Given the description of an element on the screen output the (x, y) to click on. 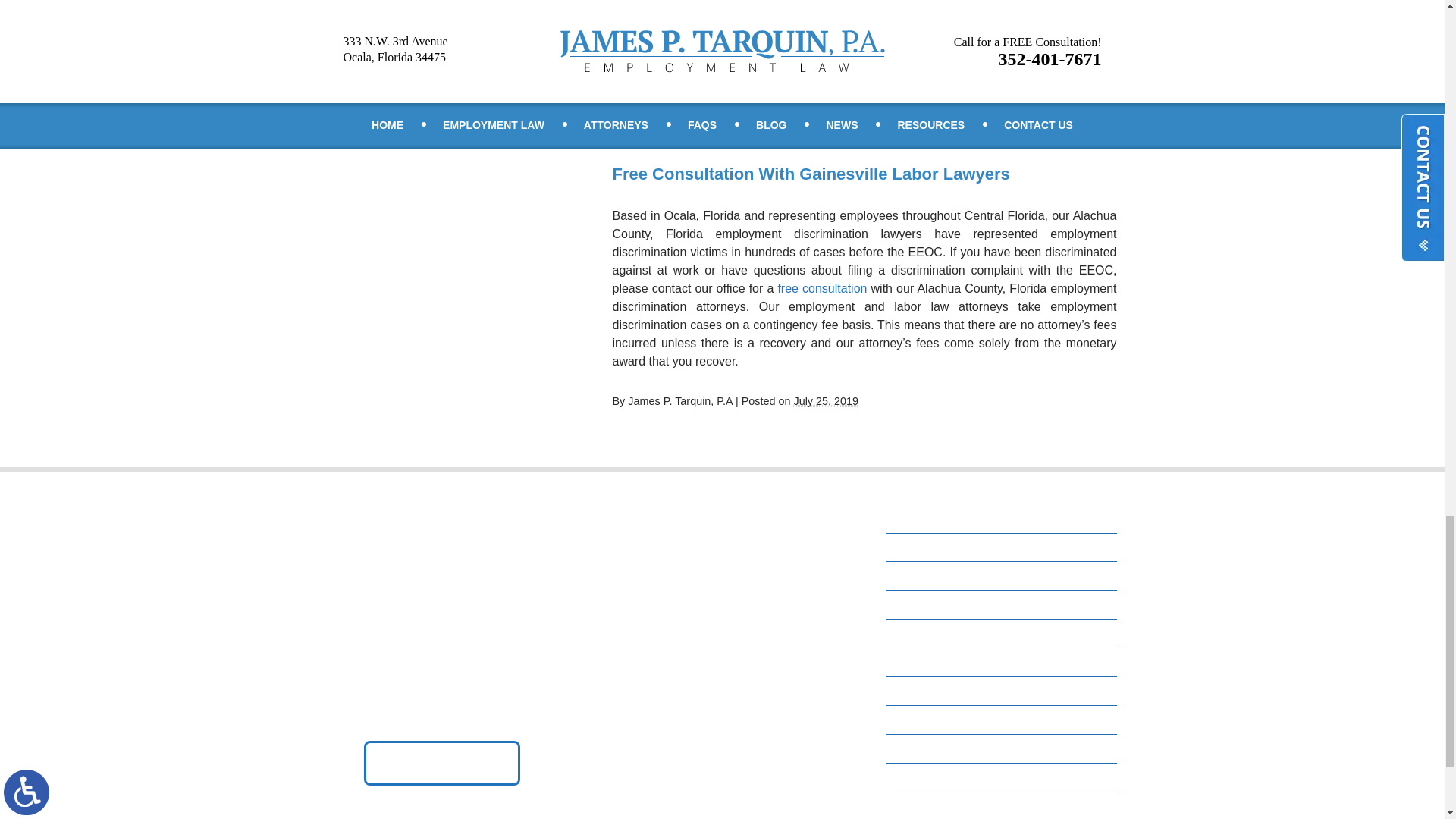
2019-07-25T17:41:48-0700 (826, 400)
